Given the description of an element on the screen output the (x, y) to click on. 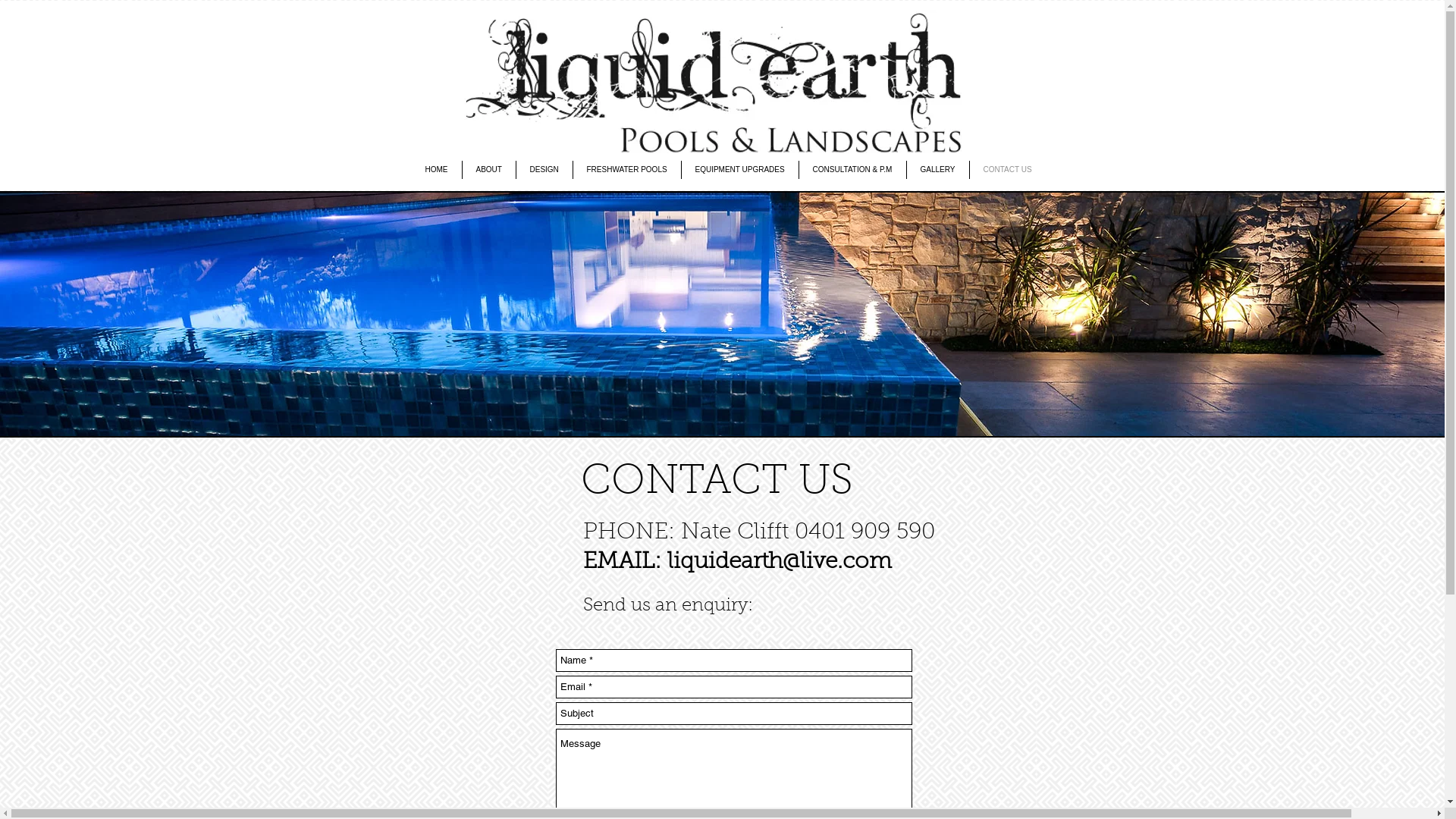
CONSULTATION & P.M Element type: text (852, 169)
ABOUT Element type: text (488, 169)
liquidearth@live.com Element type: text (779, 562)
CONTACT US Element type: text (1006, 169)
EQUIPMENT UPGRADES Element type: text (738, 169)
HOME Element type: text (436, 169)
GALLERY Element type: text (937, 169)
DESIGN Element type: text (543, 169)
FRESHWATER POOLS Element type: text (626, 169)
